Given the description of an element on the screen output the (x, y) to click on. 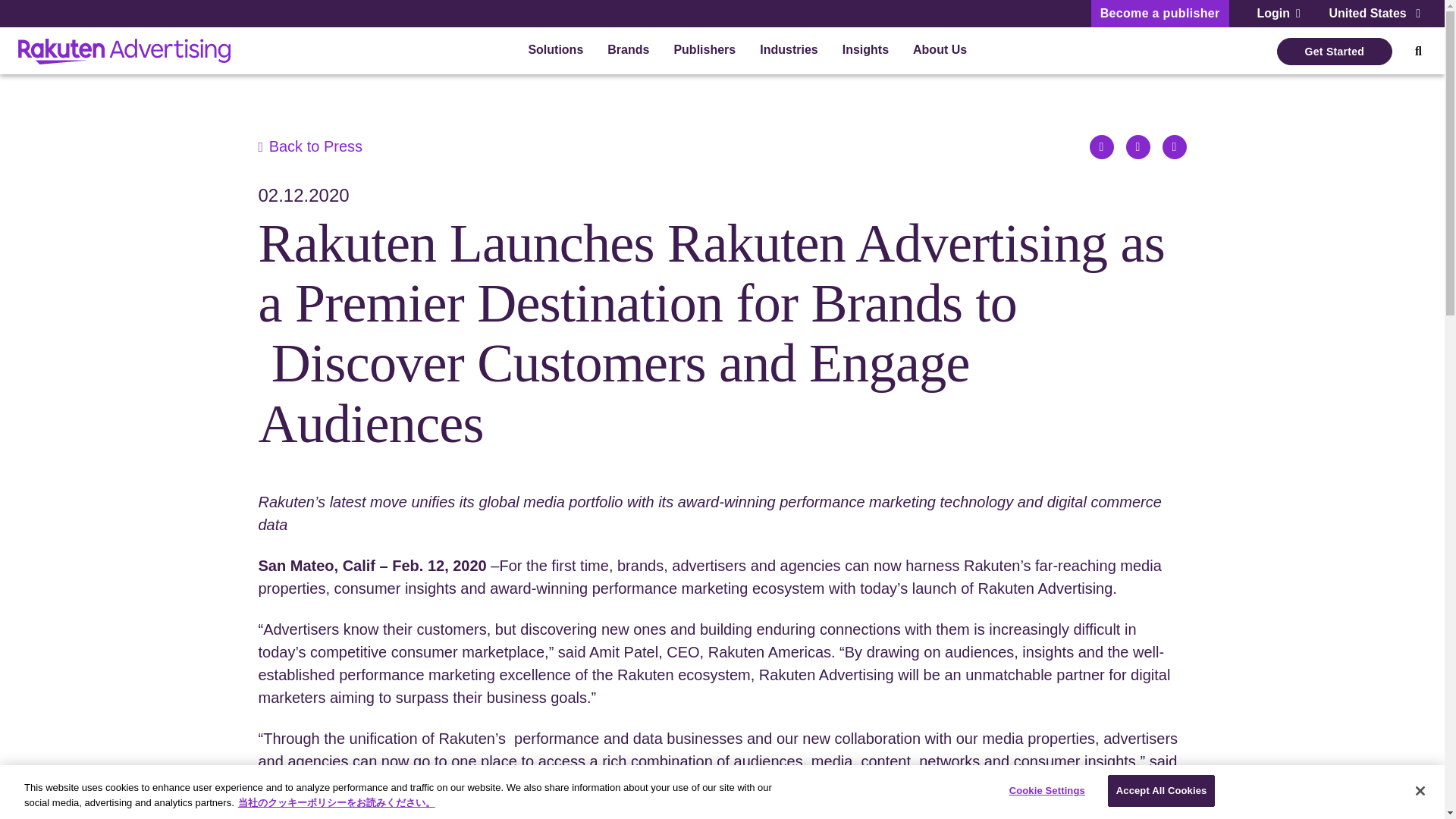
Login (1278, 13)
Industries (788, 51)
Visit us on Facebook (1173, 146)
Solutions (555, 51)
United States (1374, 13)
Visit us on LinkedIn (1101, 146)
Publishers (703, 51)
Become a publisher (1159, 13)
Visit us on Twitter (1137, 146)
